Given the description of an element on the screen output the (x, y) to click on. 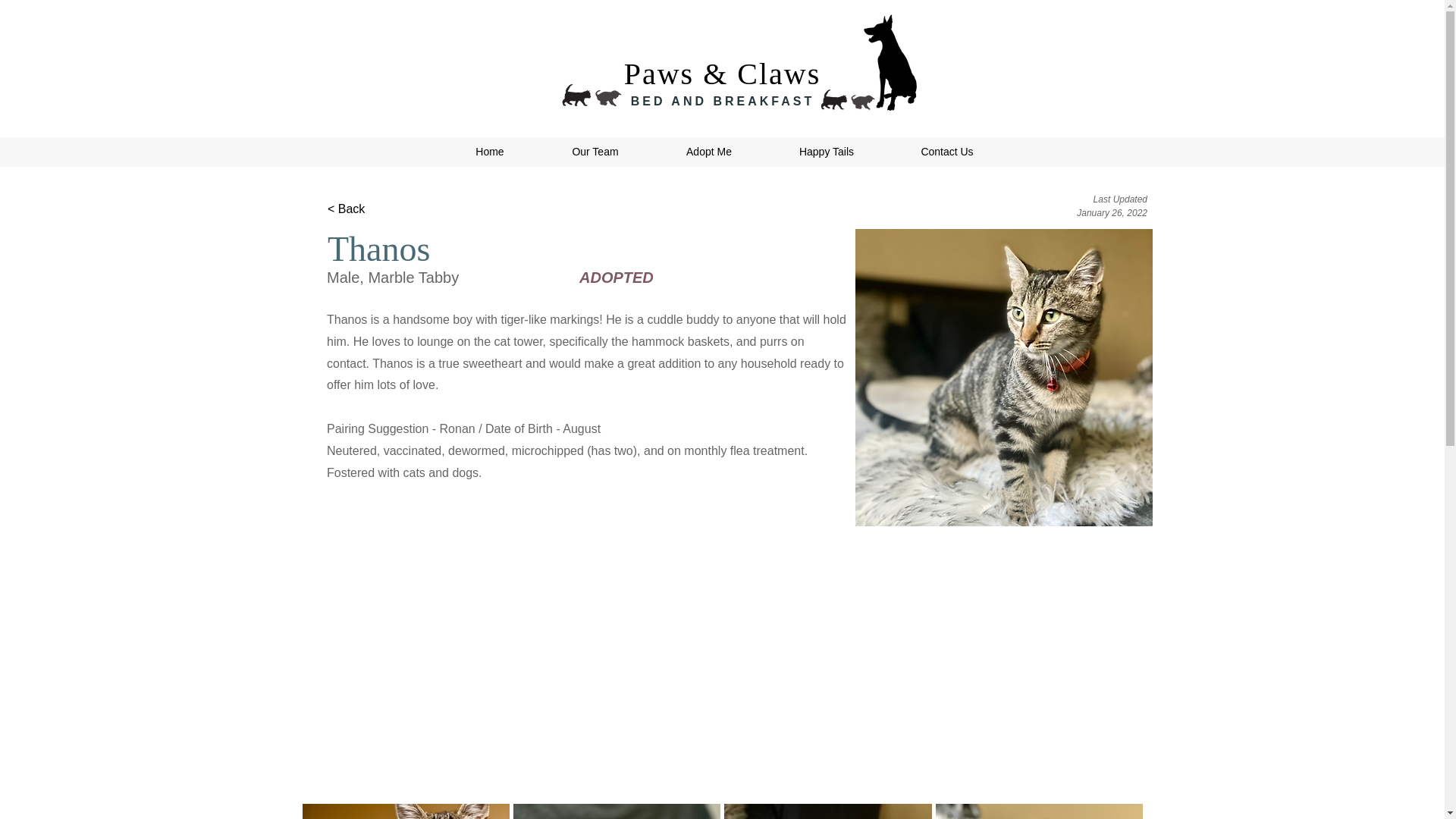
Our Team (595, 151)
Home (489, 151)
Happy Tails (826, 151)
BED AND BREAKFAST (722, 101)
Contact Us (946, 151)
Adopt Me (708, 151)
